Given the description of an element on the screen output the (x, y) to click on. 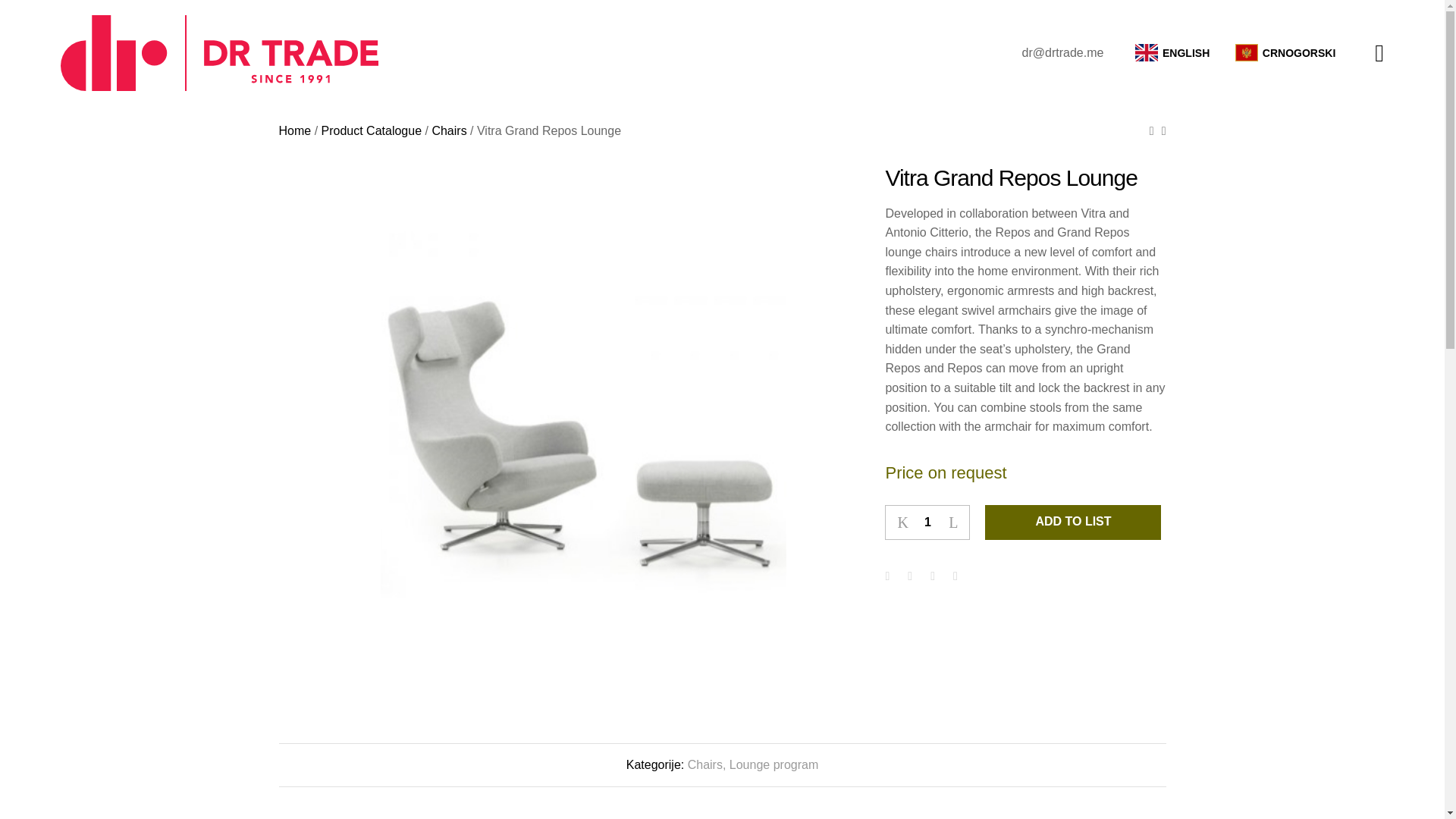
Product Catalogue (371, 130)
Home (295, 130)
1 (927, 522)
ENGLISH (1171, 53)
Lounge program (773, 764)
ADD TO LIST (1072, 522)
CRNOGORSKI (1284, 53)
Chairs (704, 764)
Chairs (447, 130)
